Given the description of an element on the screen output the (x, y) to click on. 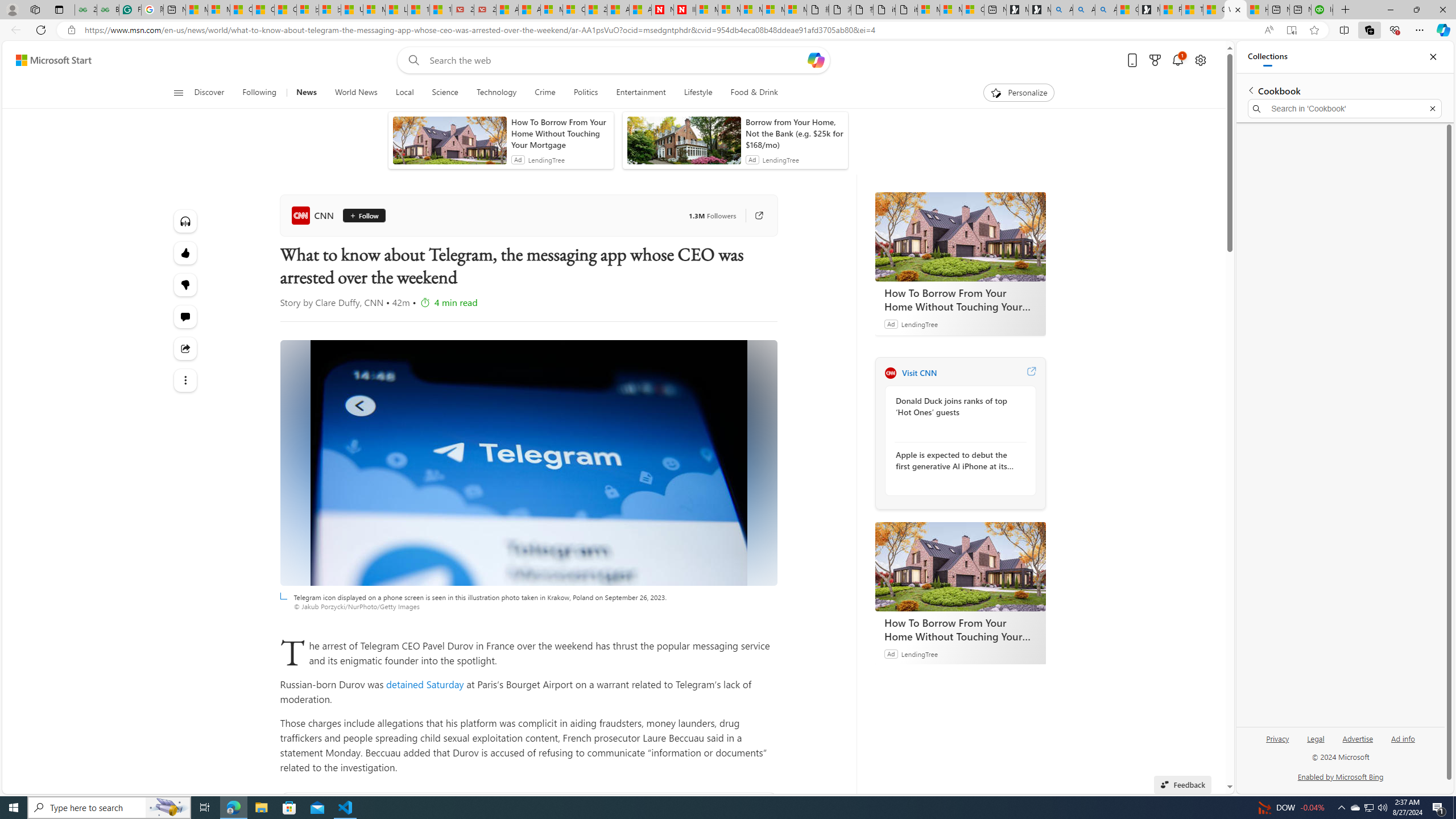
Food and Drink - MSN (1170, 9)
Consumer Health Data Privacy Policy (972, 9)
Lifestyle - MSN (396, 9)
USA TODAY - MSN (352, 9)
